Given the description of an element on the screen output the (x, y) to click on. 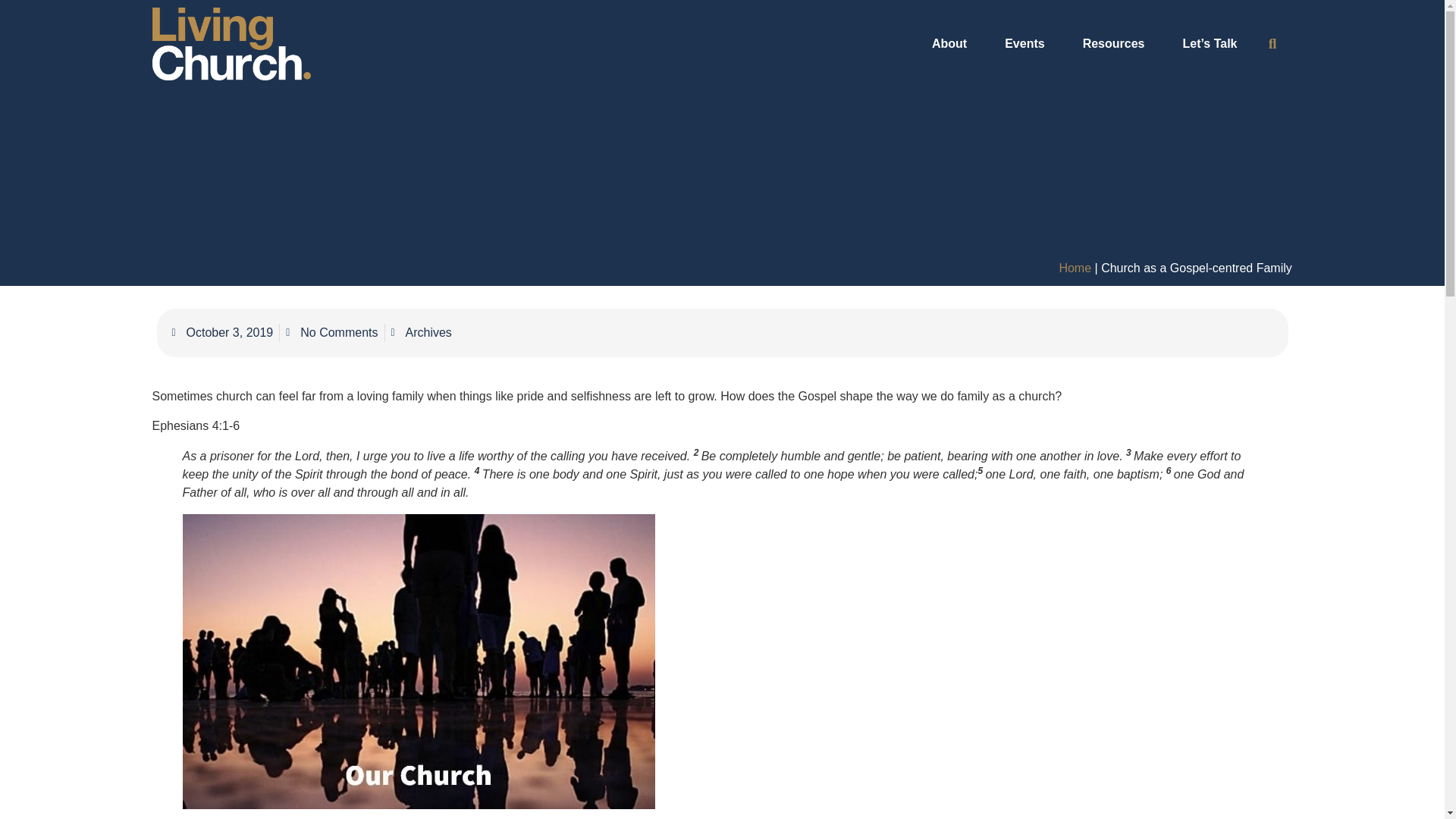
Home (1074, 267)
Resources (1117, 43)
October 3, 2019 (222, 332)
Archives (427, 332)
Events (1028, 43)
About (953, 43)
No Comments (331, 332)
